Given the description of an element on the screen output the (x, y) to click on. 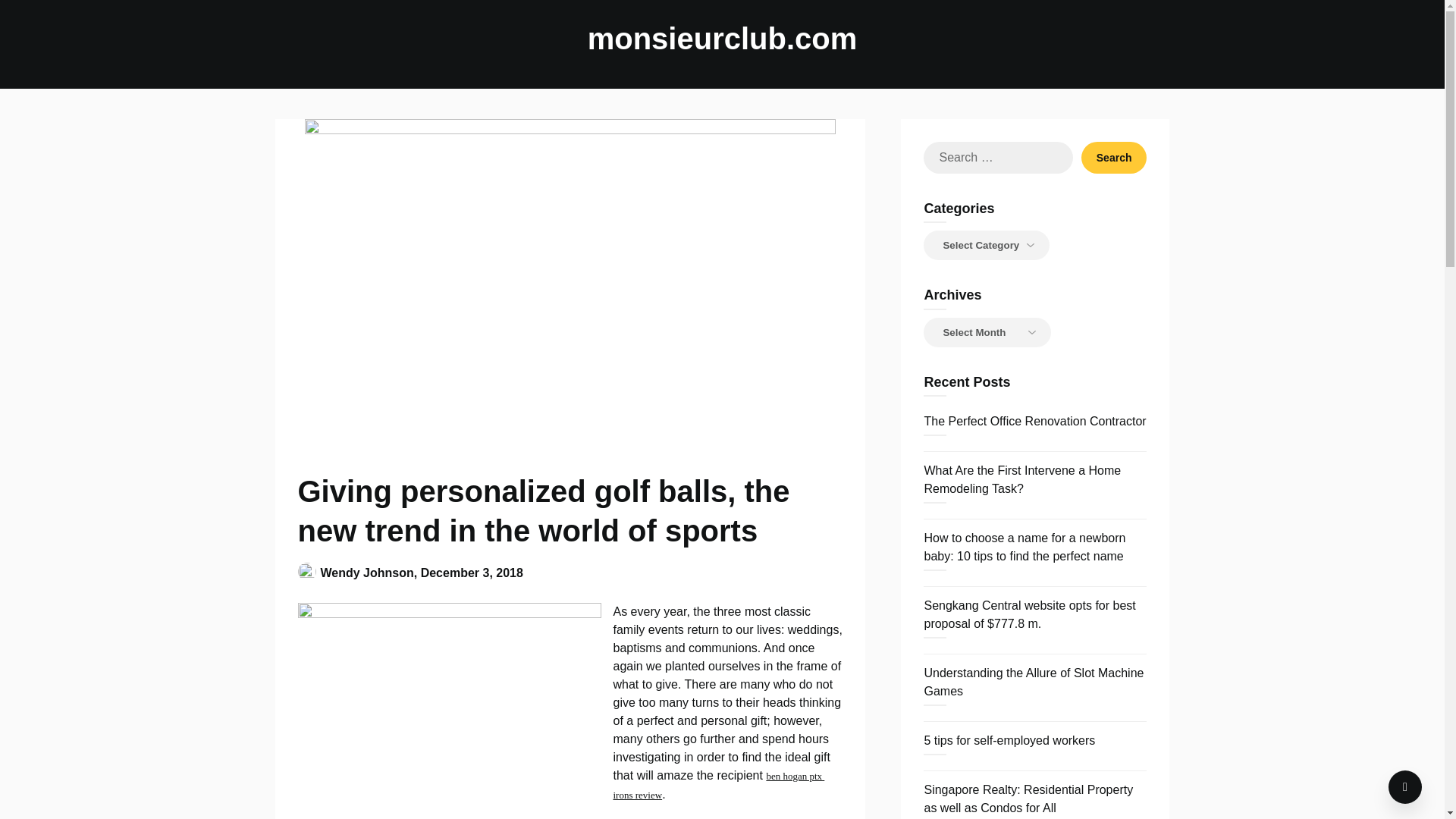
monsieurclub.com (722, 38)
5 tips for self-employed workers (1008, 739)
The Perfect Office Renovation Contractor (1034, 420)
December 3, 2018 (471, 571)
Search (1114, 157)
What Are the First Intervene a Home Remodeling Task? (1022, 479)
Understanding the Allure of Slot Machine Games (1032, 681)
To Top (1405, 786)
Search (1114, 157)
